Given the description of an element on the screen output the (x, y) to click on. 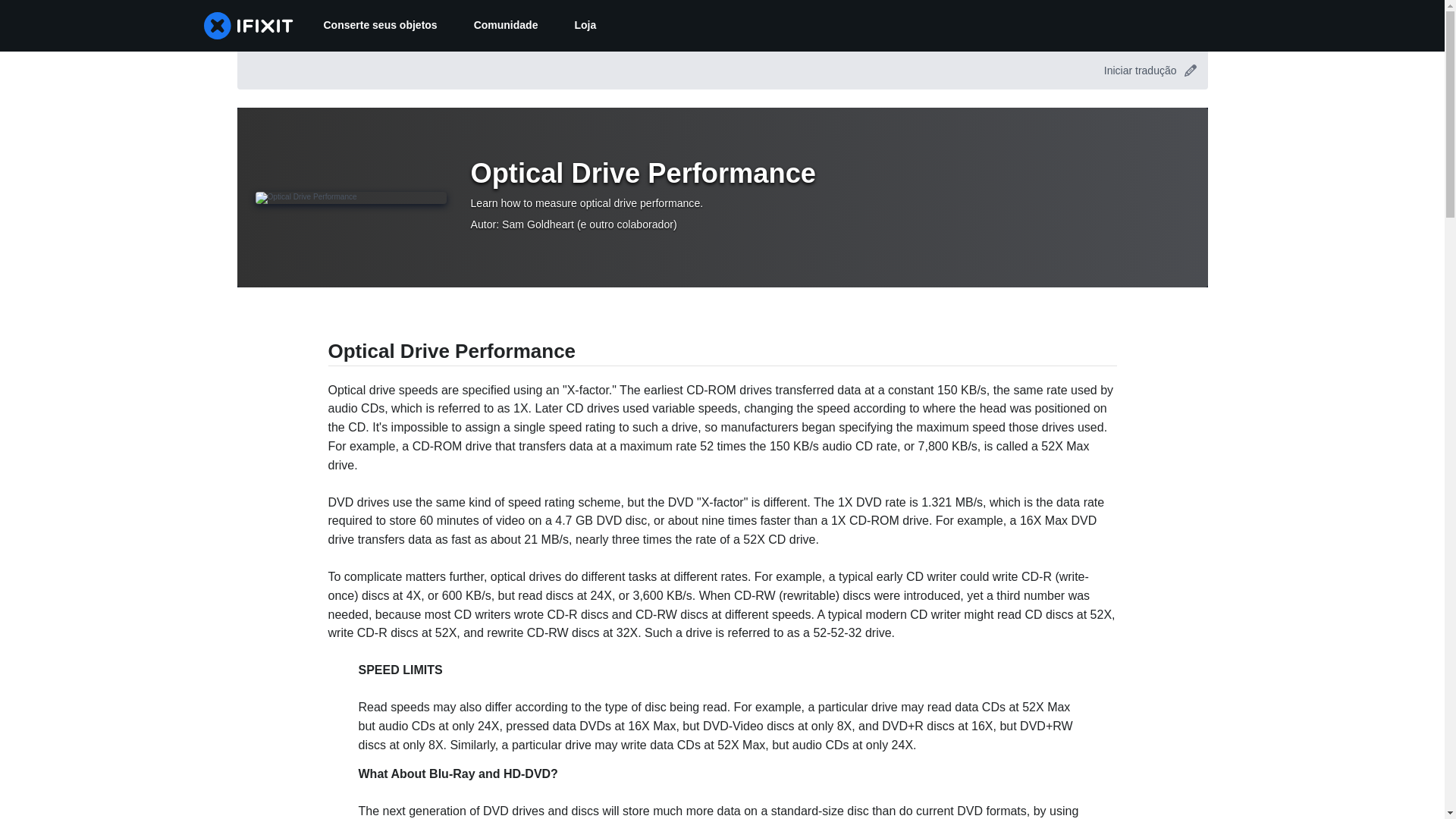
Comunidade (505, 25)
Conserte seus objetos (379, 25)
Loja (585, 25)
Sam Goldheart (537, 224)
